Given the description of an element on the screen output the (x, y) to click on. 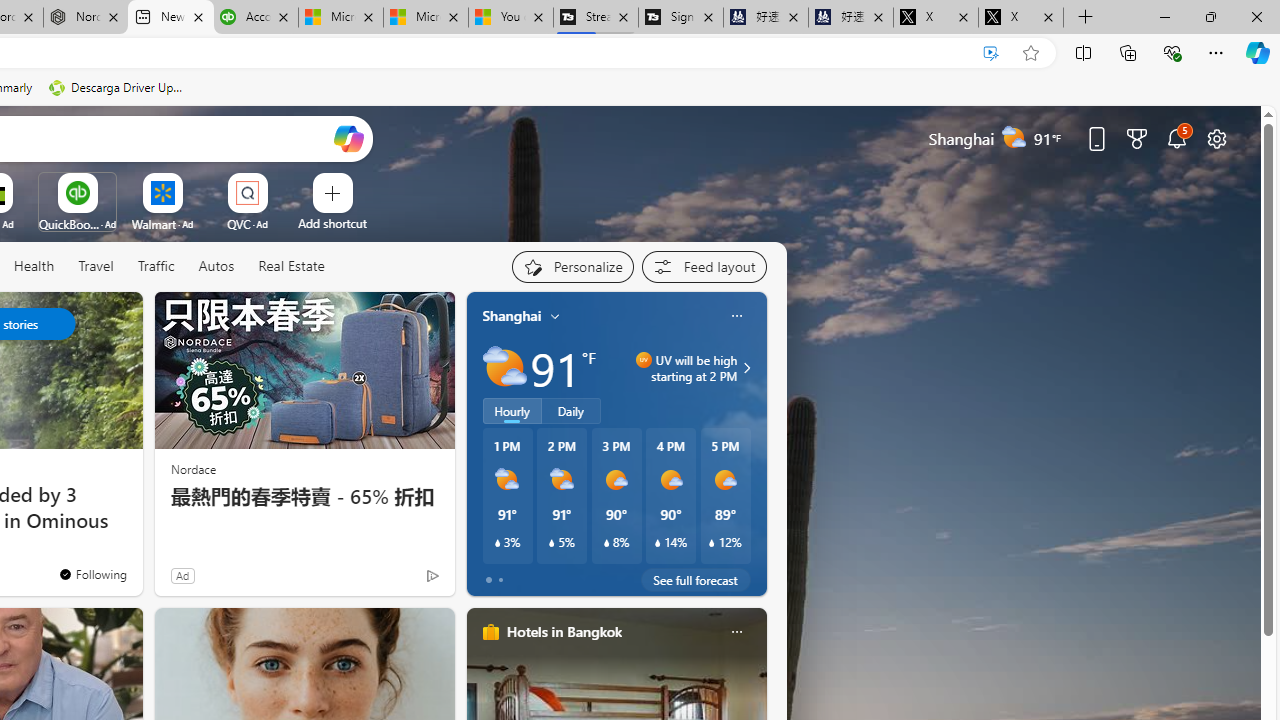
Daily (571, 411)
Class: weather-current-precipitation-glyph (712, 543)
You're following Newsweek (92, 573)
Shanghai (511, 315)
Accounting Software for Accountants, CPAs and Bookkeepers (255, 17)
